Given the description of an element on the screen output the (x, y) to click on. 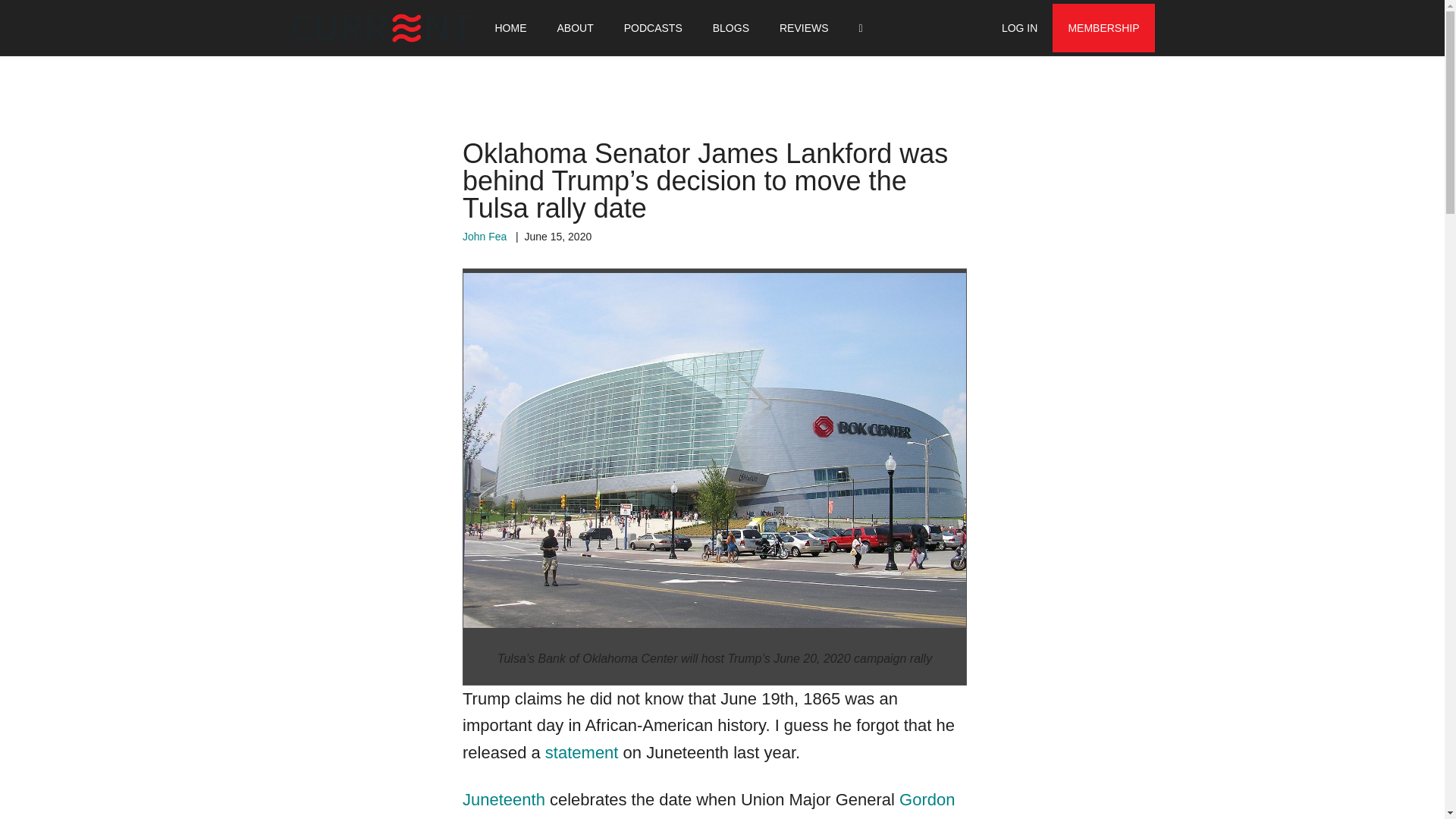
WAY OF IMPROVEMENT (365, 28)
MEDIA REQUESTS (808, 28)
John Fea (484, 236)
PODCASTS (652, 28)
Juneteenth (503, 799)
MEMBERSHIP (1103, 28)
ABOUT JOHN (491, 28)
ABOUT (574, 28)
BOOKS (628, 28)
